Given the description of an element on the screen output the (x, y) to click on. 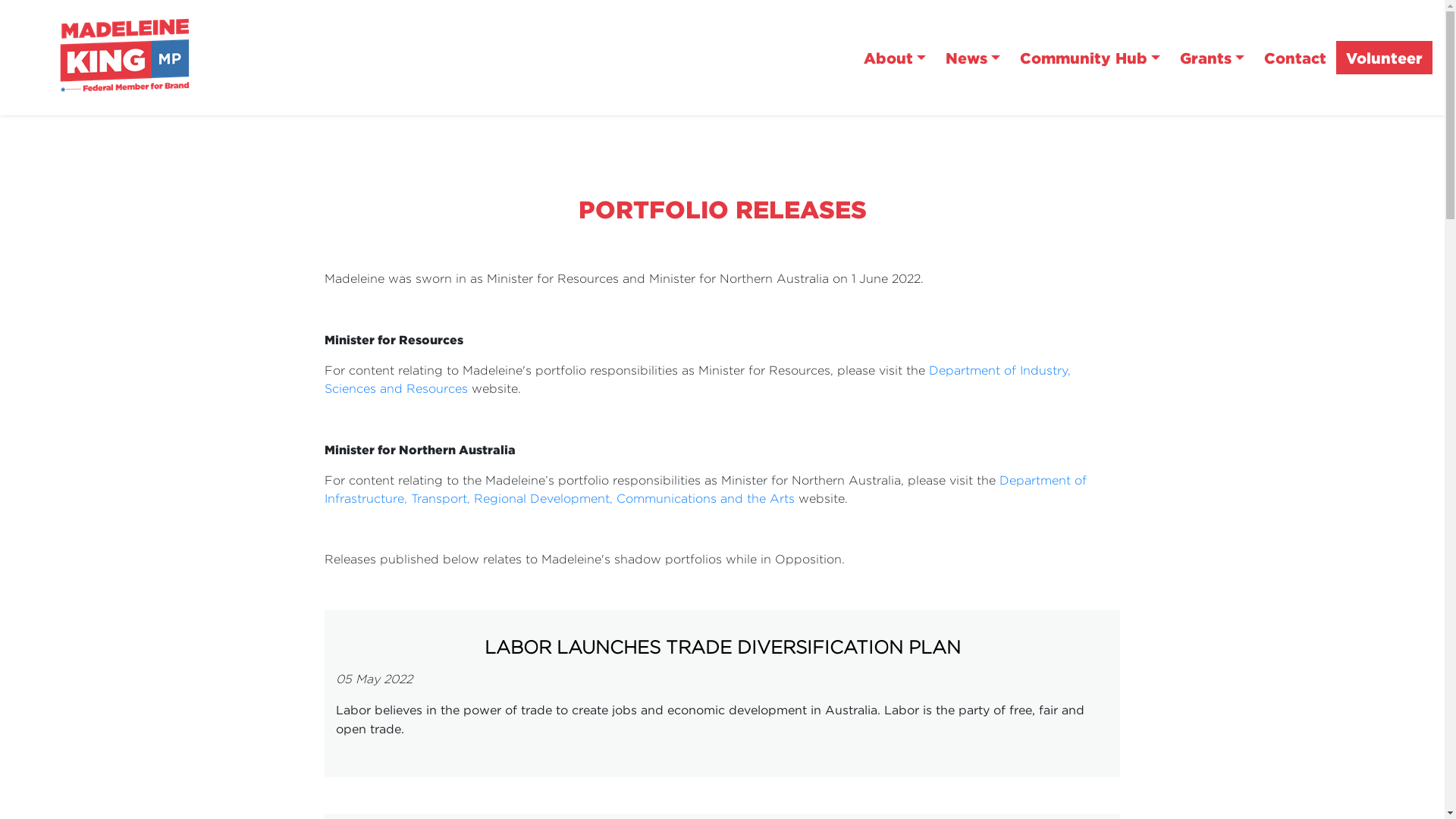
Volunteer Element type: text (1384, 57)
Community Hub Element type: text (1090, 57)
About Element type: text (894, 57)
News Element type: text (972, 57)
Grants Element type: text (1212, 57)
Madeleine King Element type: hover (132, 56)
LABOR LAUNCHES TRADE DIVERSIFICATION PLAN Element type: text (722, 647)
Contact Element type: text (1295, 57)
Department of Industry, Sciences and Resources Element type: text (697, 379)
